Given the description of an element on the screen output the (x, y) to click on. 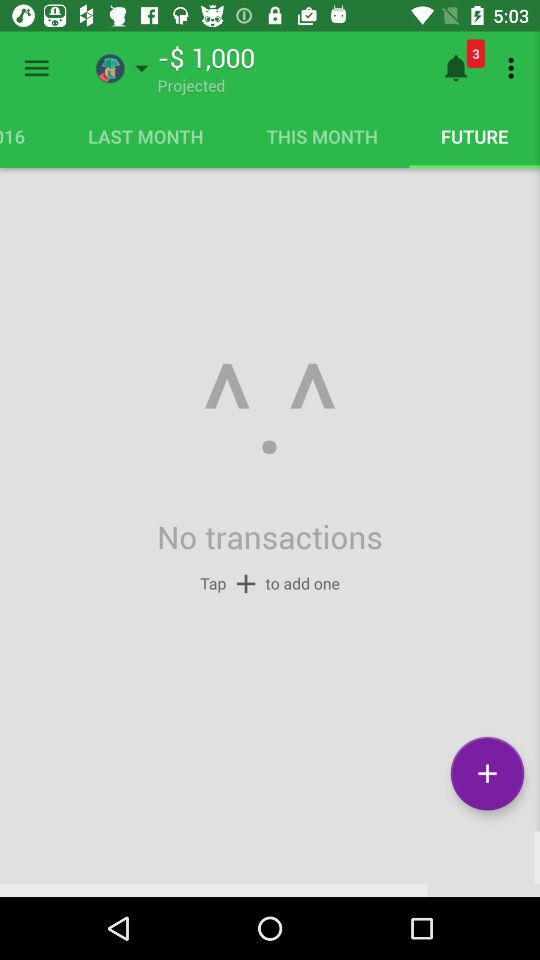
scroll to ^.^ item (269, 410)
